Given the description of an element on the screen output the (x, y) to click on. 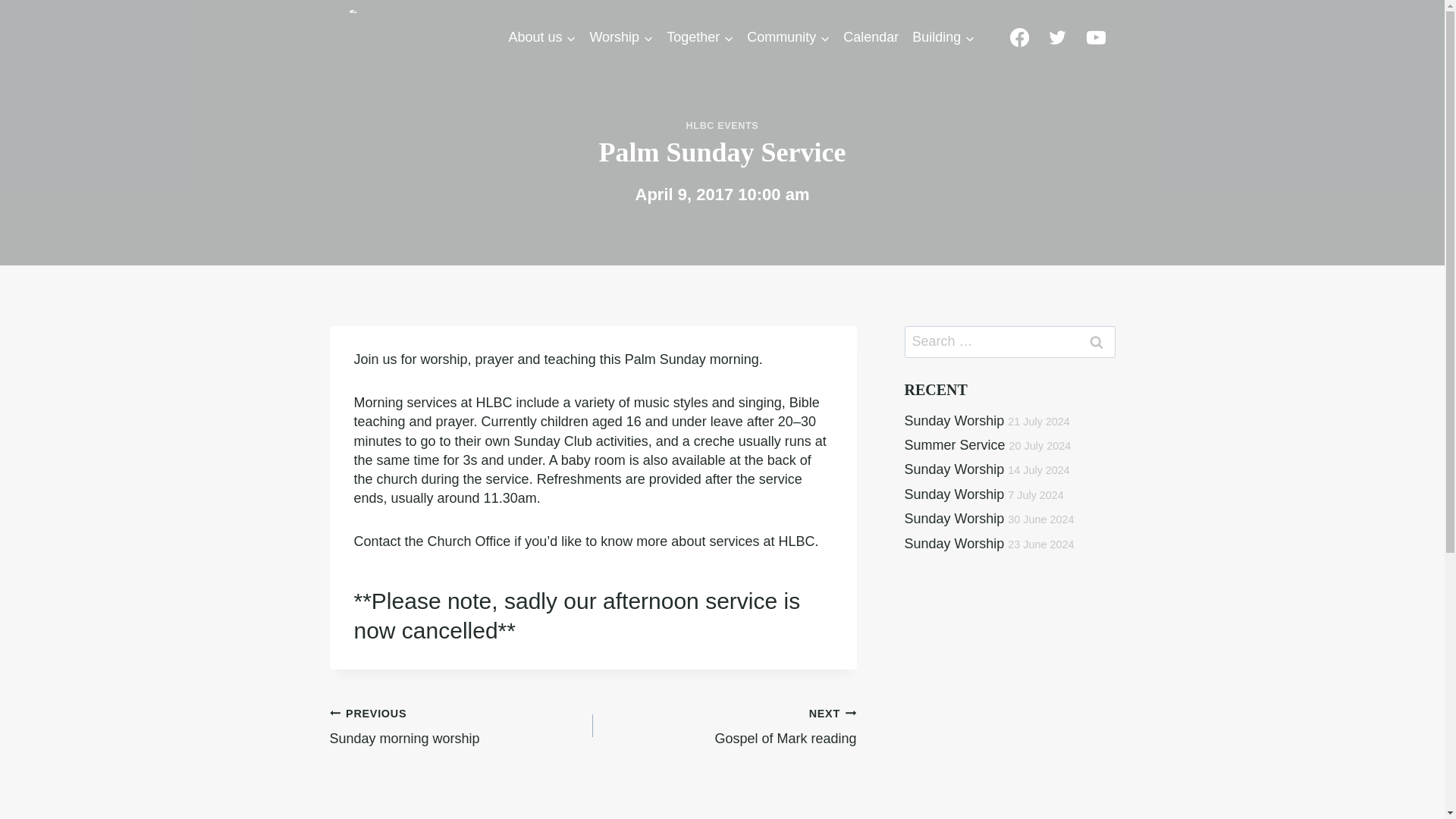
Together (699, 37)
HLBC EVENTS (721, 125)
Search (1096, 341)
About us (541, 37)
Worship (620, 37)
Building (943, 37)
Community (787, 37)
Calendar (870, 37)
Search (1096, 341)
